Given the description of an element on the screen output the (x, y) to click on. 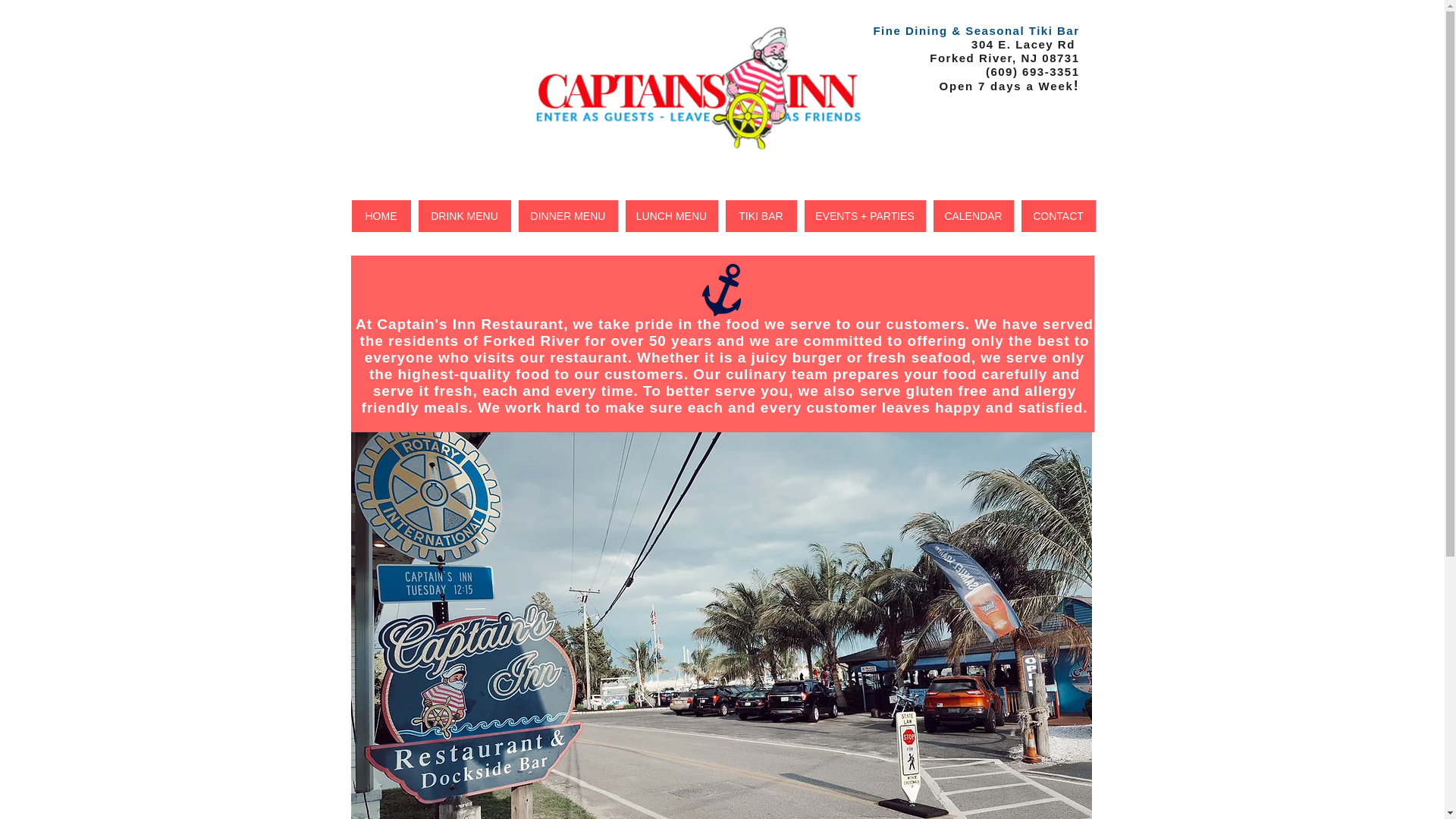
LUNCH MENU (670, 215)
TIKI BAR (760, 215)
HOME (381, 215)
DRINK MENU (465, 215)
CALENDAR (973, 215)
DINNER MENU (567, 215)
CONTACT (1057, 215)
